Given the description of an element on the screen output the (x, y) to click on. 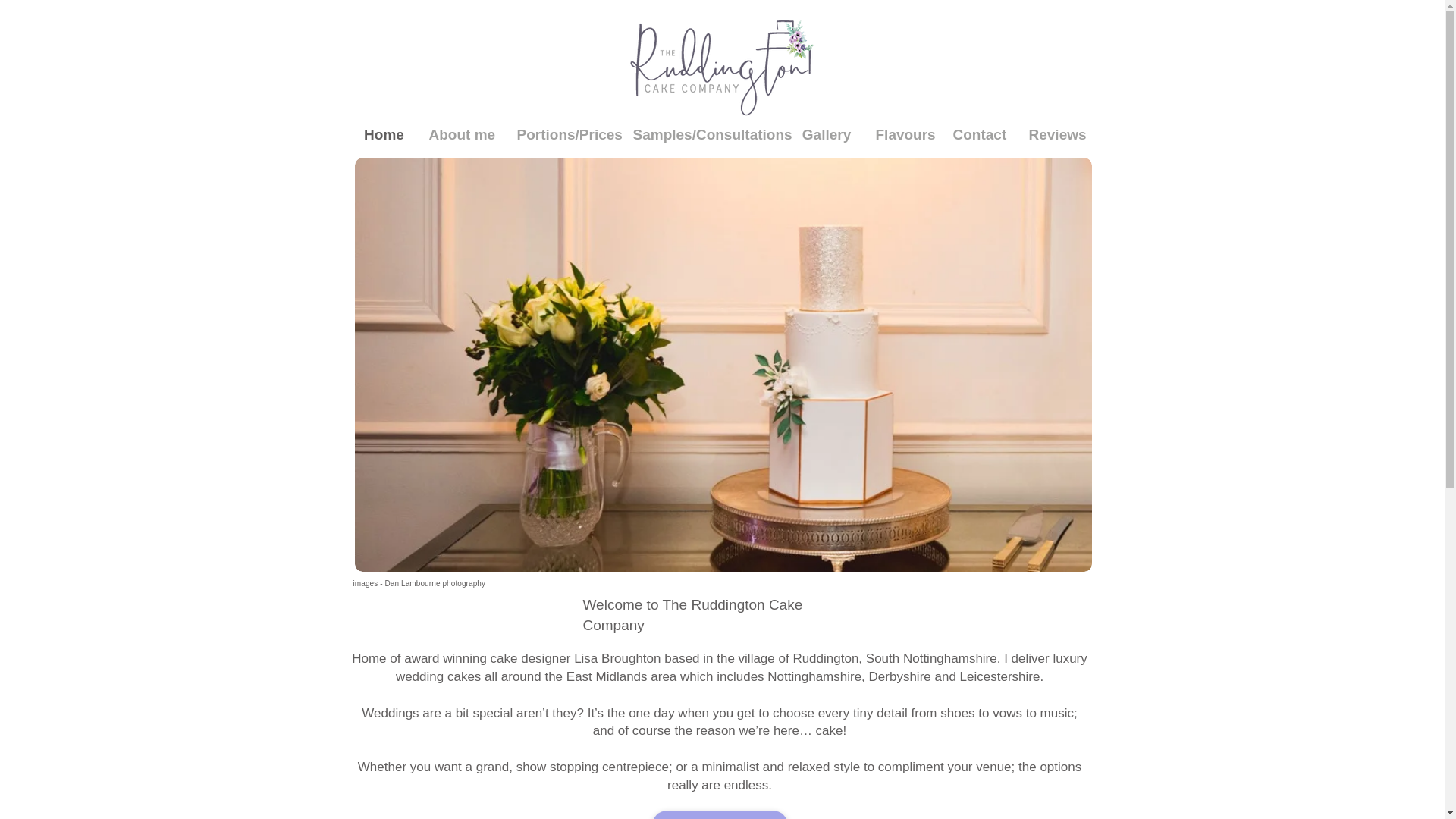
Gallery (826, 134)
more about me (719, 814)
Reviews (1055, 134)
images - Dan Lambourne photography (419, 583)
About me (460, 134)
Home (383, 134)
Flavours (903, 134)
Contact (979, 134)
